Given the description of an element on the screen output the (x, y) to click on. 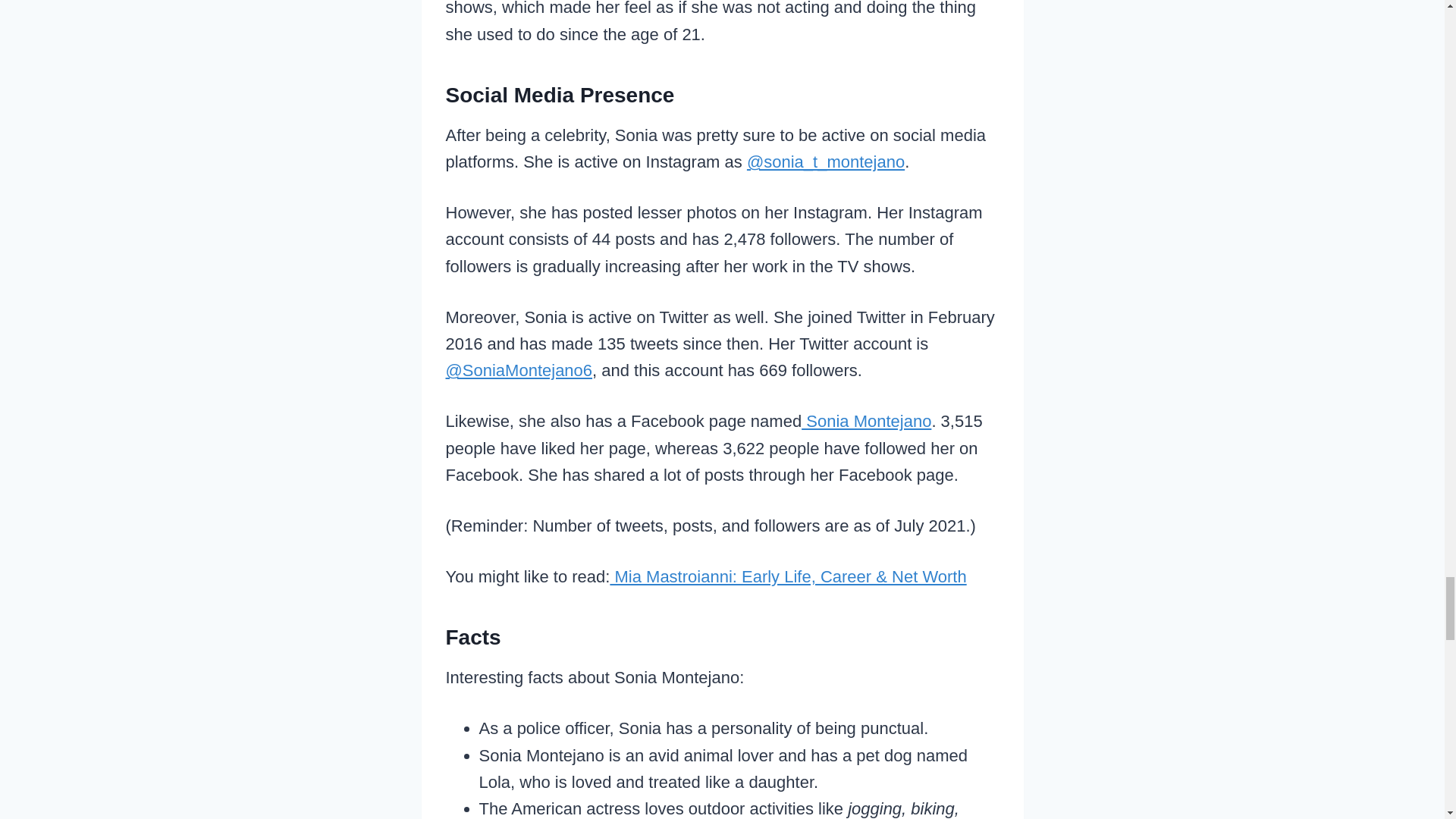
Sonia Montejano (866, 420)
